Given the description of an element on the screen output the (x, y) to click on. 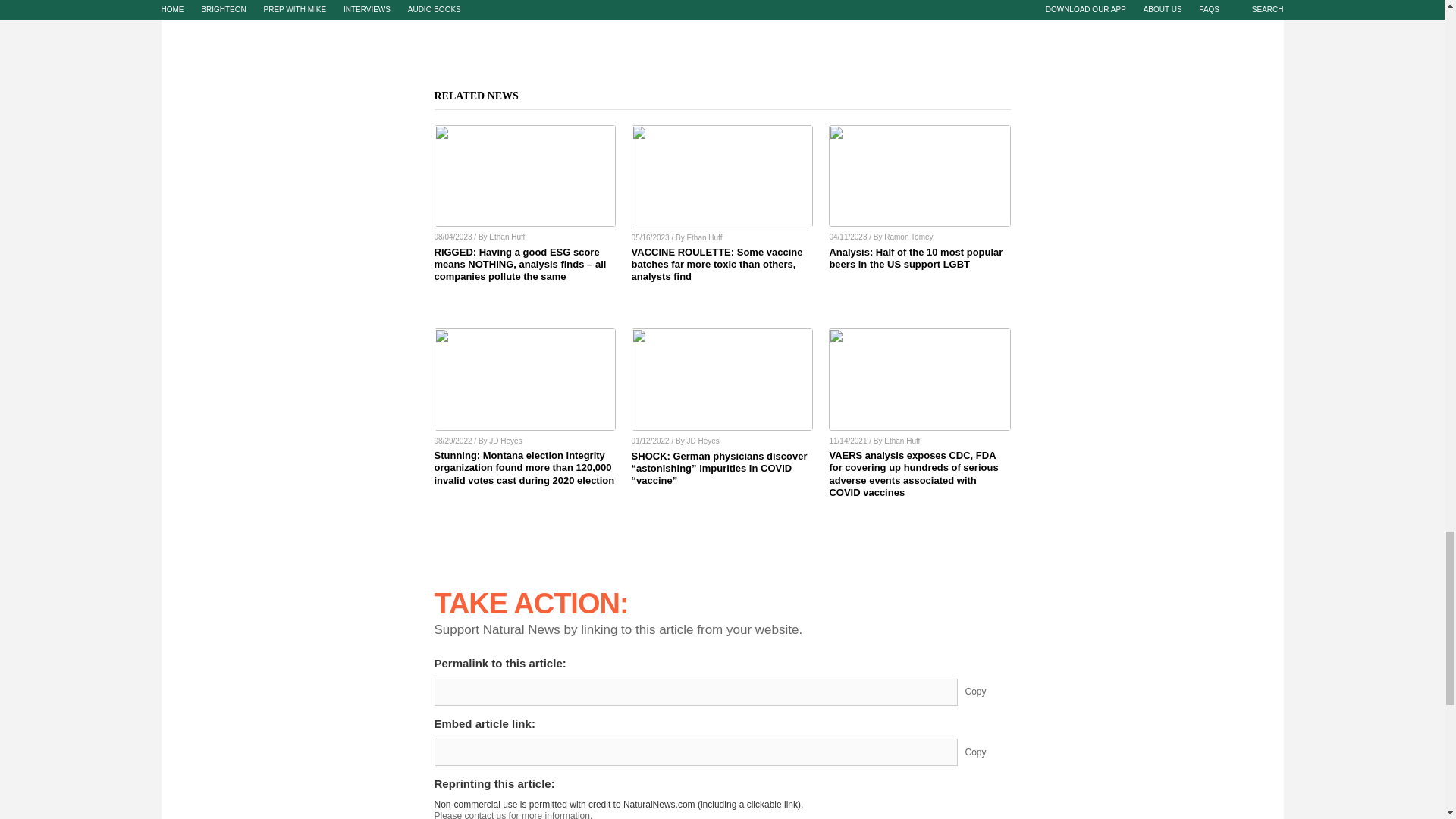
Copy Permalink (986, 424)
Copy Embed Link (986, 484)
Continue (459, 739)
